Given the description of an element on the screen output the (x, y) to click on. 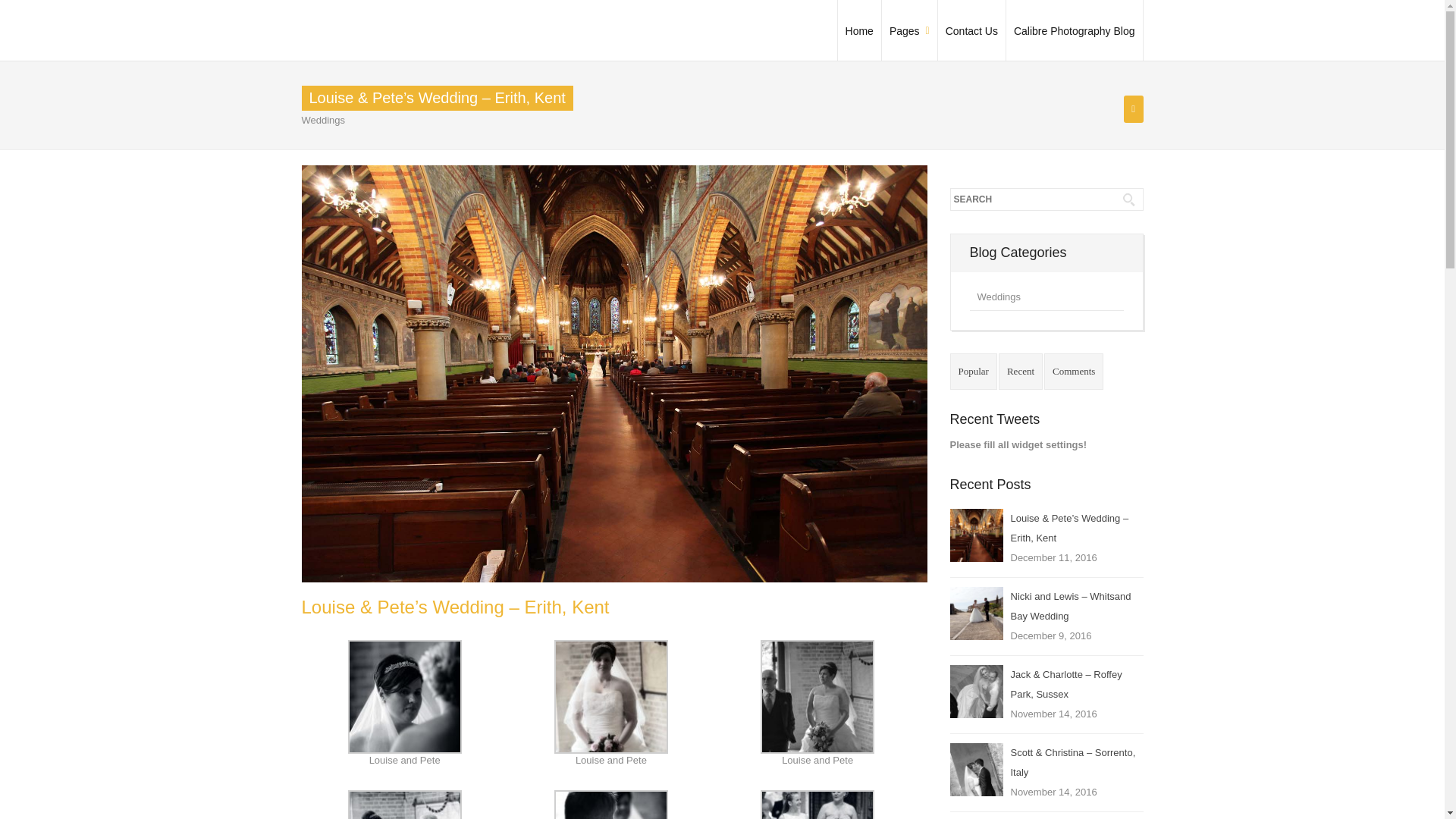
Contact Us (971, 30)
Calibre Photography Blog (1074, 30)
Pages (909, 30)
